Given the description of an element on the screen output the (x, y) to click on. 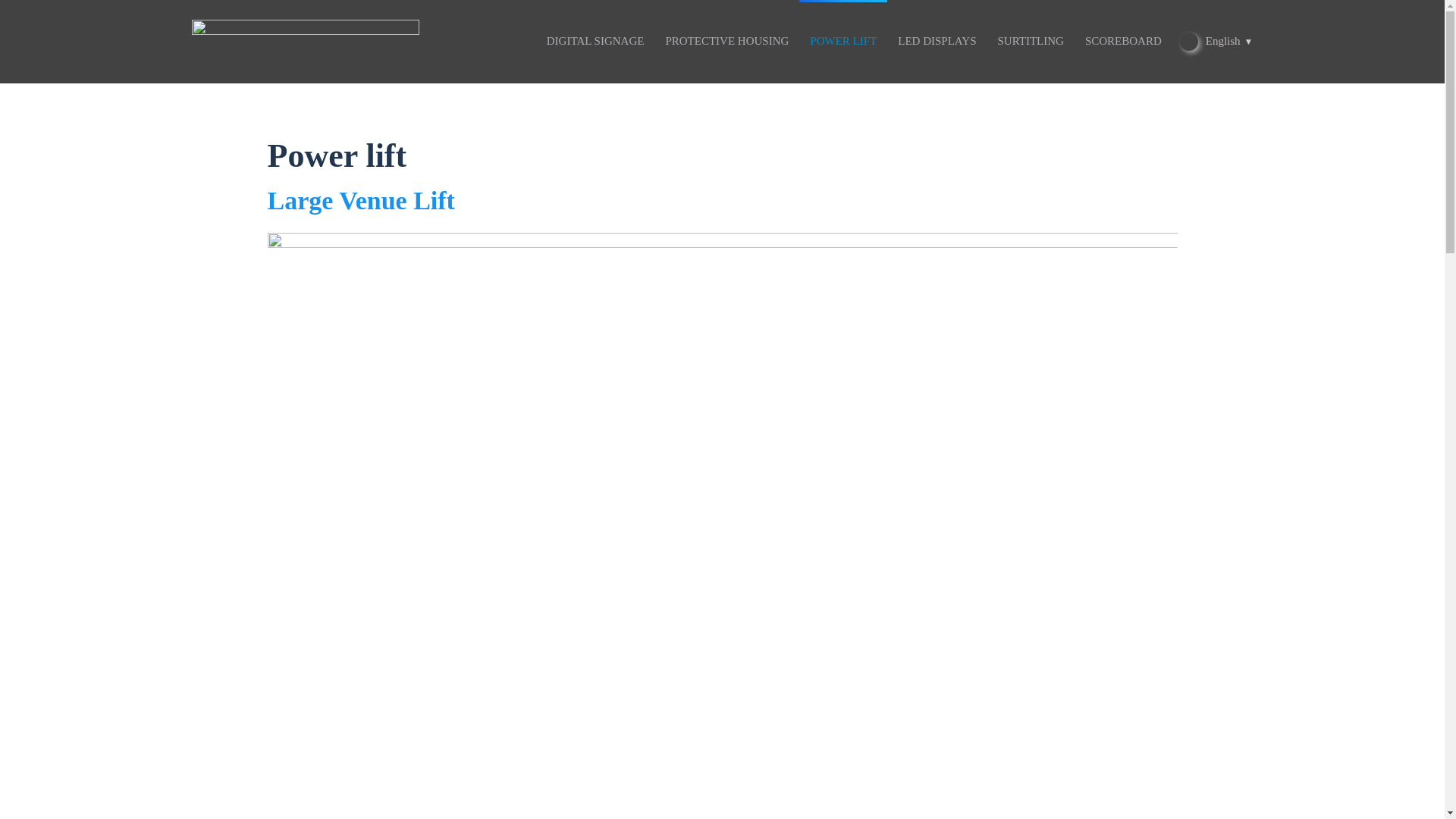
DIGITAL SIGNAGE (595, 41)
Large Venue Lift (721, 200)
Power lift (721, 156)
